Given the description of an element on the screen output the (x, y) to click on. 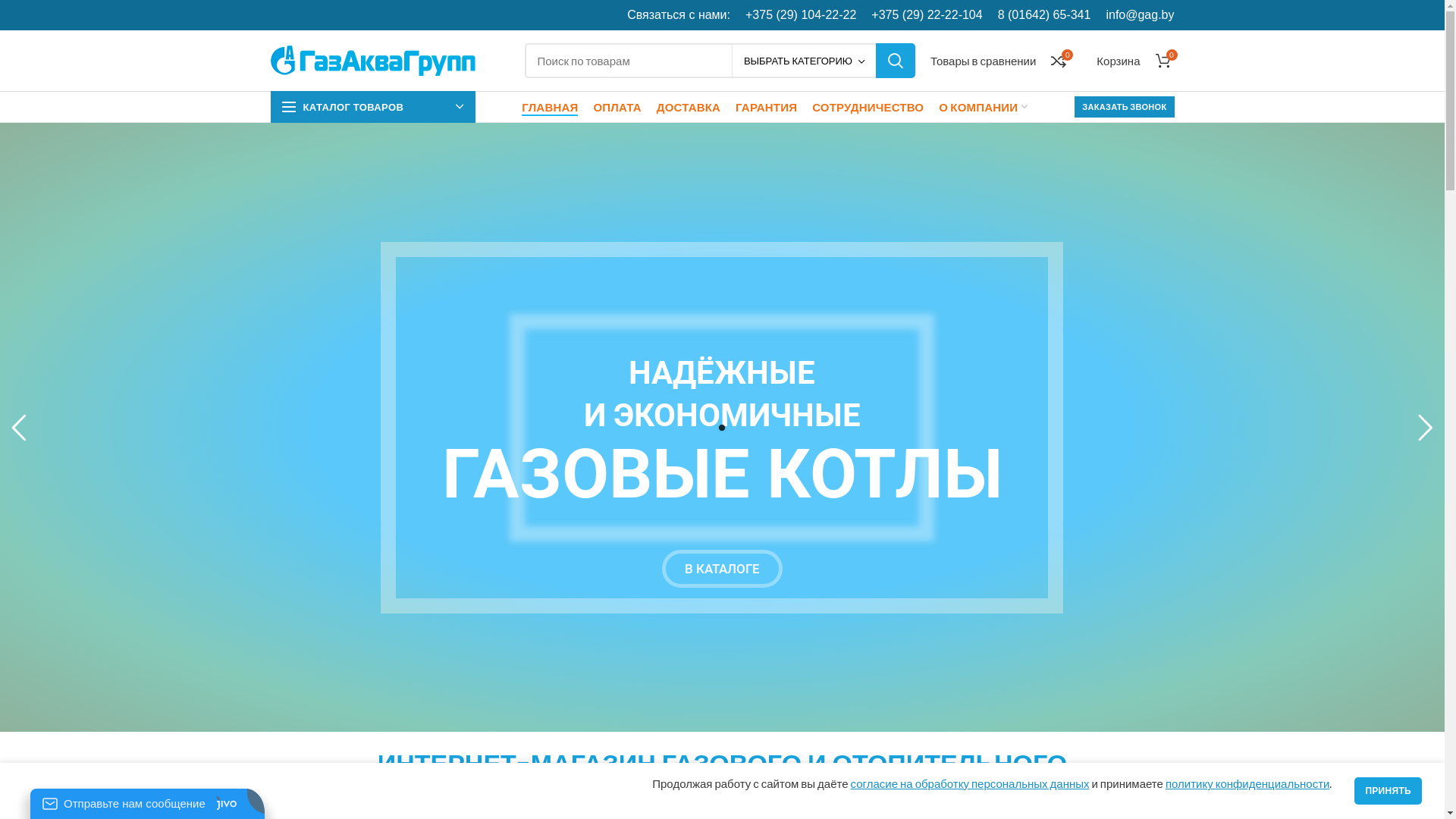
+375 (29) 22-22-104 Element type: text (926, 14)
0 Element type: text (1163, 60)
0 Element type: text (1058, 60)
8 (01642) 65-341 Element type: text (1044, 14)
+375 (29) 104-22-22 Element type: text (800, 14)
info@gag.by Element type: text (1139, 14)
